Given the description of an element on the screen output the (x, y) to click on. 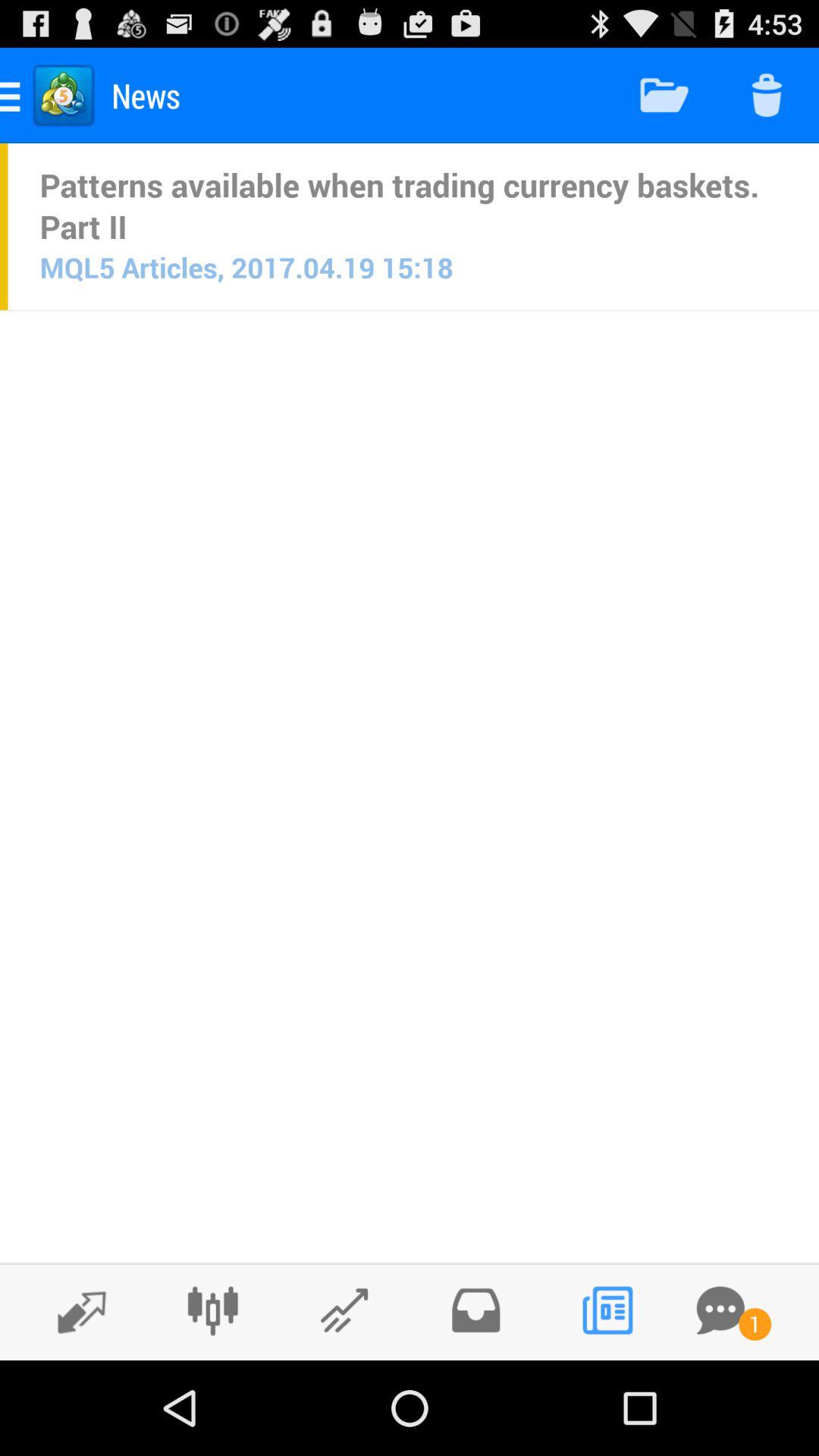
candlestick graphics (212, 1310)
